Given the description of an element on the screen output the (x, y) to click on. 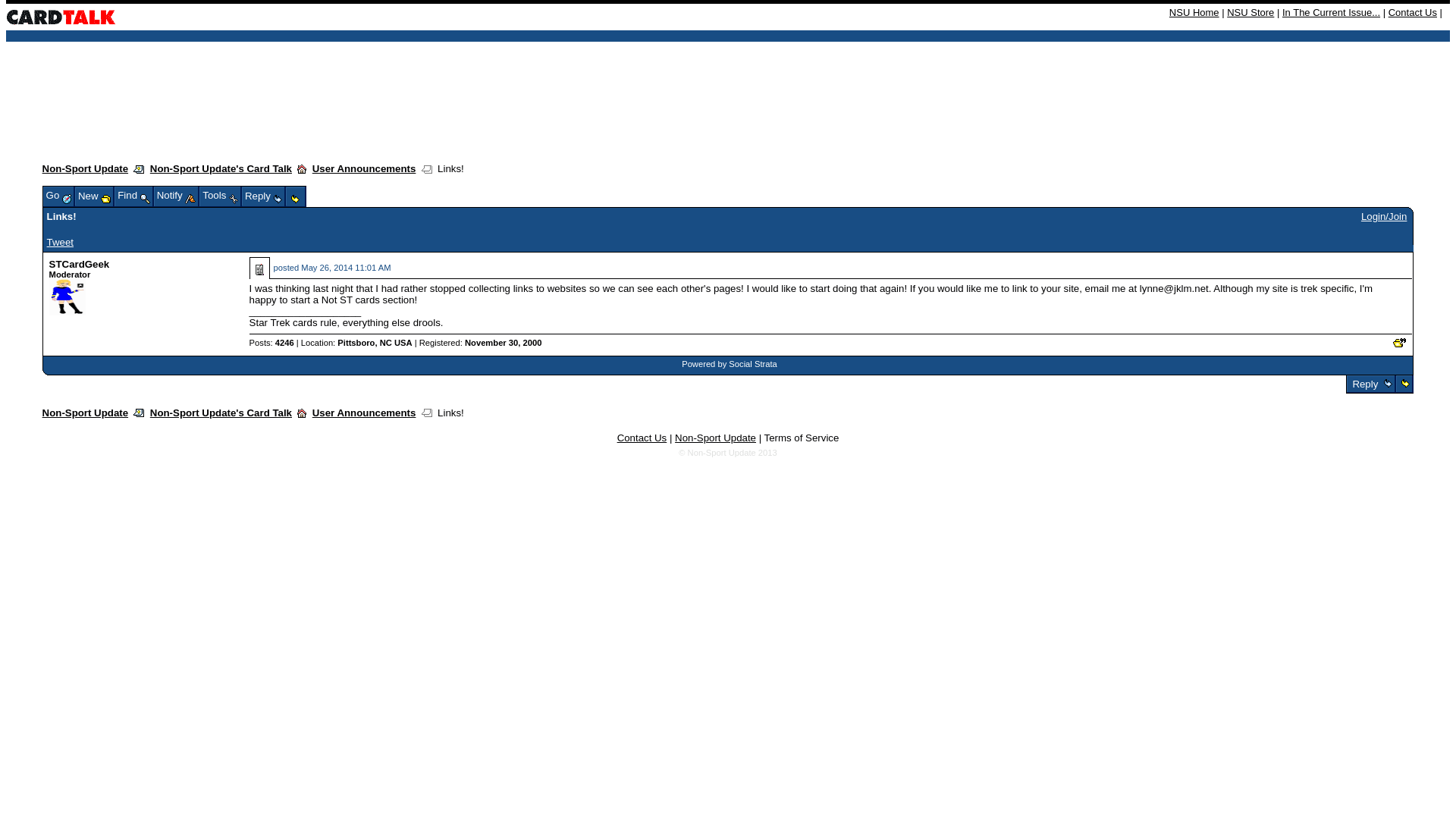
Non-Sport Update (85, 168)
In The Current Issue... (1331, 12)
NSU Home (1194, 12)
Hop To Forum Categories (301, 168)
User Announcements (364, 168)
NSU Store (1250, 12)
Hop To Forum Categories (301, 412)
Tweet (60, 242)
Non-Sport Update's Card Talk (220, 168)
Reply With Quote (1399, 342)
Contact Us (1413, 12)
GO (309, 172)
Picture of STCardGeek (67, 297)
